Given the description of an element on the screen output the (x, y) to click on. 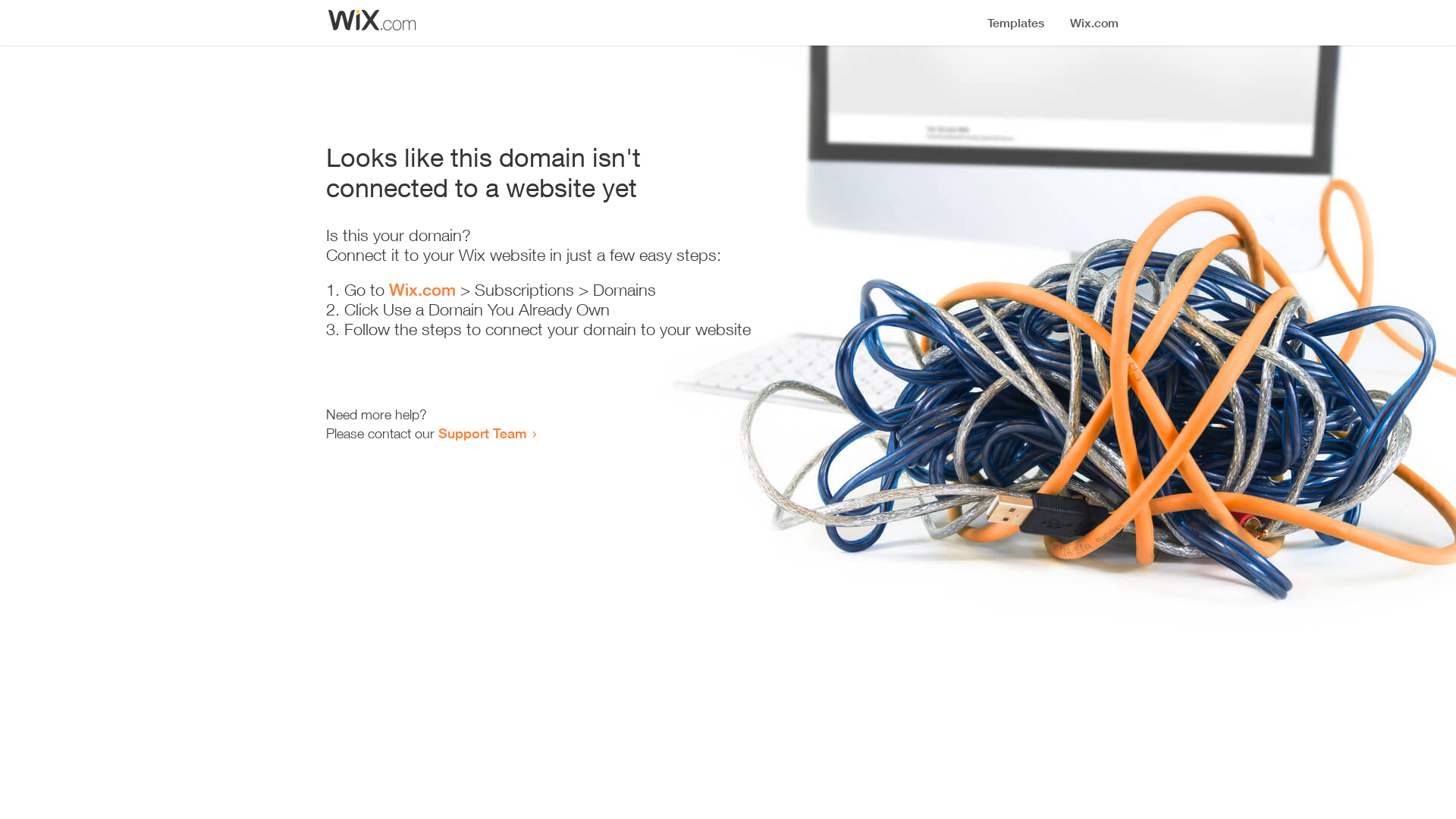
Support Team Element type: text (482, 432)
Wix.com Element type: text (422, 289)
